Given the description of an element on the screen output the (x, y) to click on. 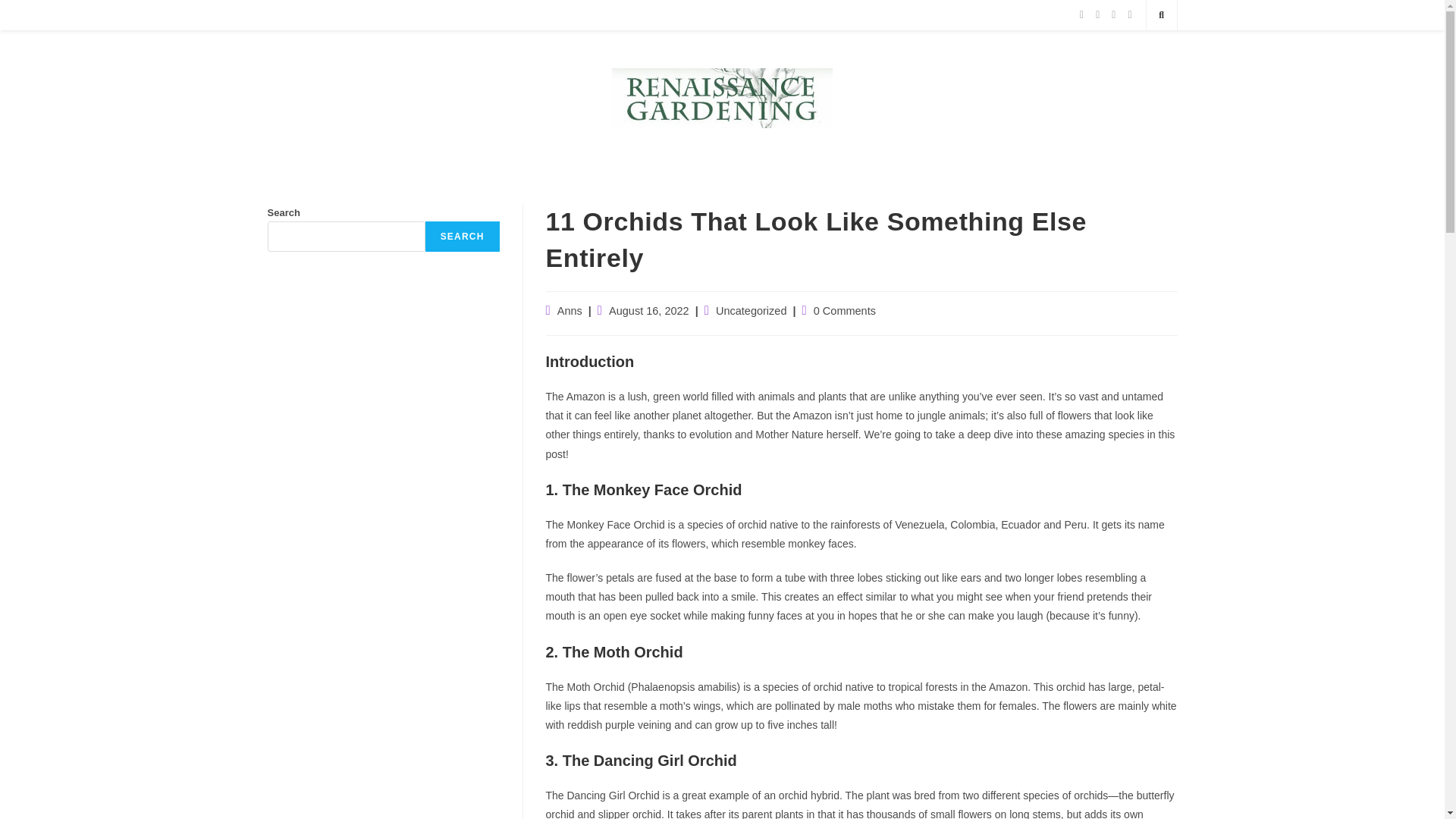
SEARCH (462, 236)
0 Comments (844, 310)
Uncategorized (751, 310)
Posts by Anns (569, 310)
Anns (569, 310)
